Given the description of an element on the screen output the (x, y) to click on. 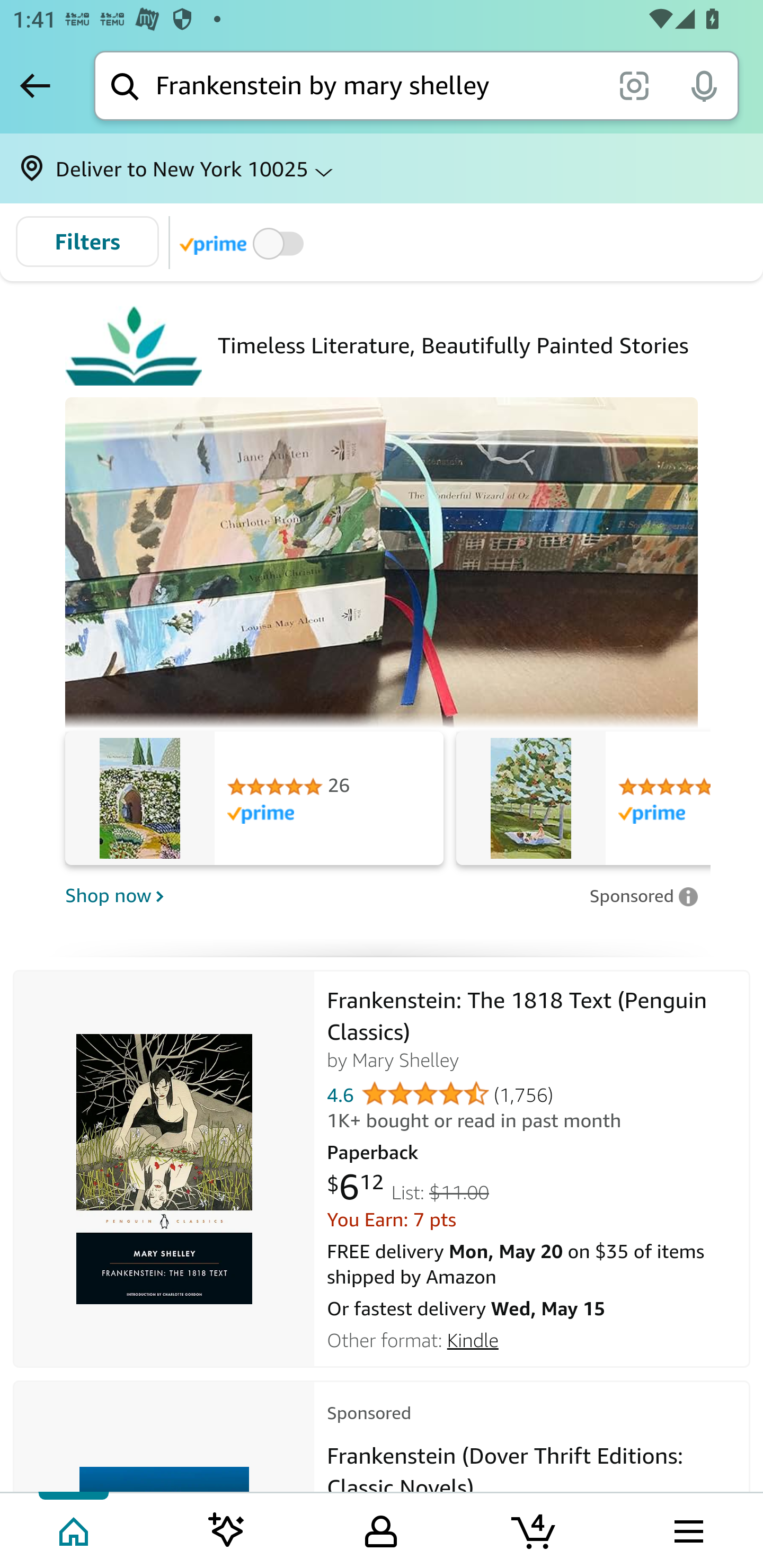
Back (35, 85)
scan it (633, 85)
Deliver to New York 10025 ⌵ (381, 168)
Filters (87, 241)
Toggle to filter by Prime products Prime Eligible (244, 242)
Shop now Shop  now  (321, 895)
Leave feedback on Sponsored ad (643, 896)
Frankenstein: The 1818 Text (Penguin Classics) (164, 1168)
Home Tab 1 of 5 (75, 1529)
Inspire feed Tab 2 of 5 (227, 1529)
Your Amazon.com Tab 3 of 5 (380, 1529)
Cart 4 items Tab 4 of 5 4 (534, 1529)
Browse menu Tab 5 of 5 (687, 1529)
